Given the description of an element on the screen output the (x, y) to click on. 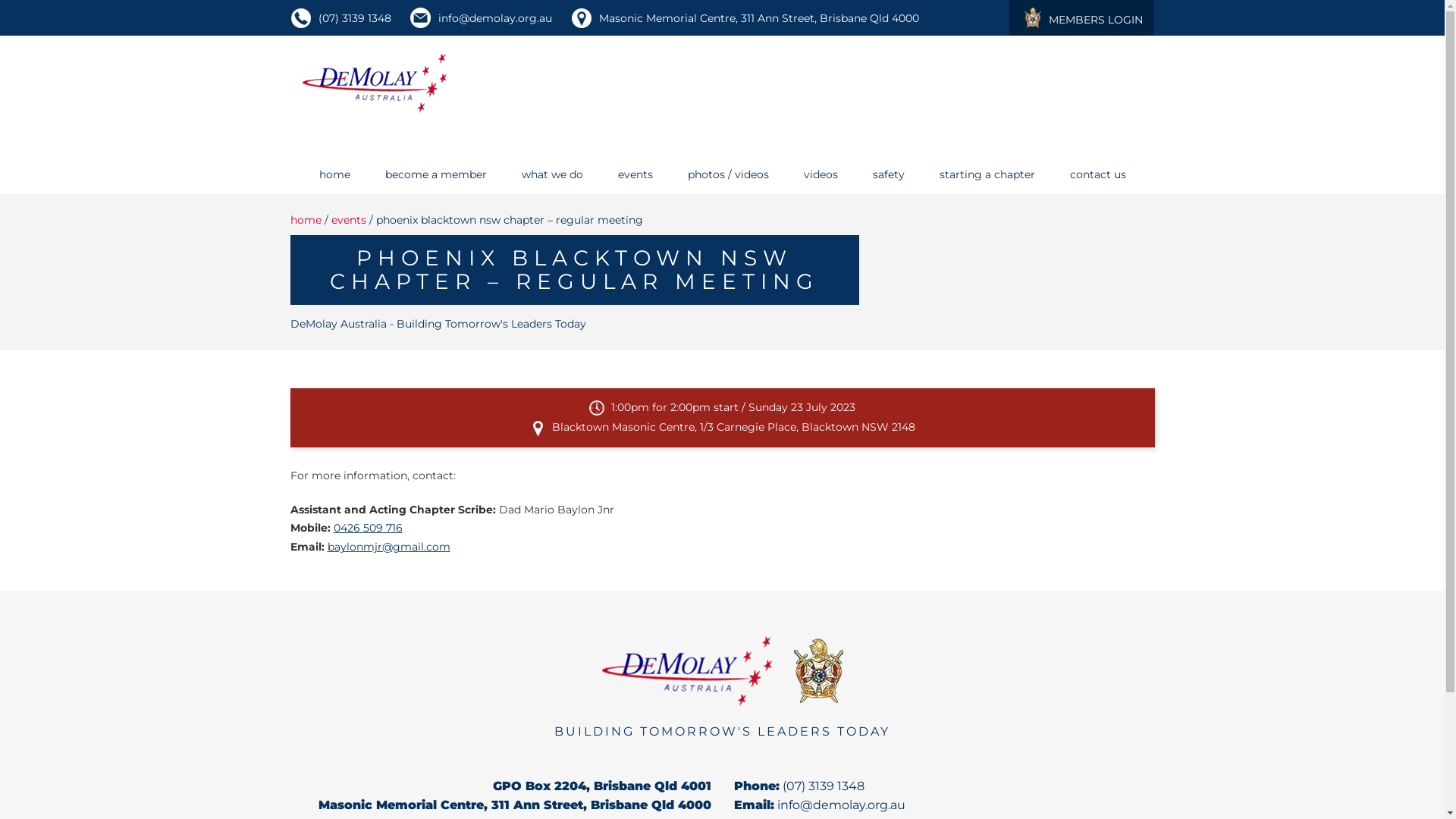
videos Element type: text (820, 174)
info@demolay.org.au Element type: text (495, 18)
starting a chapter Element type: text (986, 174)
events Element type: text (634, 174)
safety Element type: text (887, 174)
(07) 3139 1348 Element type: text (354, 18)
photos / videos Element type: text (727, 174)
0426 509 716 Element type: text (367, 527)
home Element type: text (333, 174)
home Element type: text (304, 219)
MEMBERS LOGIN Element type: text (1081, 17)
baylonmjr@gmail.com Element type: text (388, 546)
info@demolay.org.au Element type: text (840, 804)
become a member Element type: text (436, 174)
what we do Element type: text (552, 174)
events Element type: text (347, 219)
(07) 3139 1348 Element type: text (823, 785)
contact us Element type: text (1097, 174)
